Given the description of an element on the screen output the (x, y) to click on. 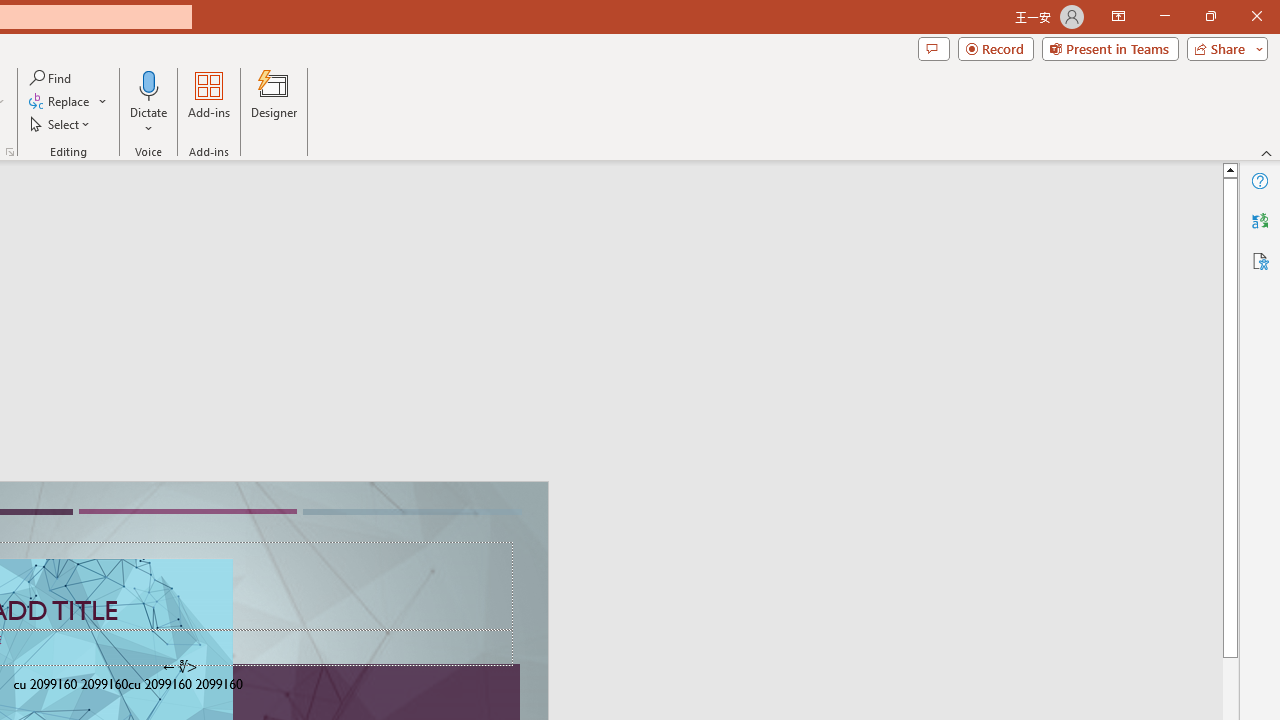
TextBox 7 (179, 667)
Line up (1230, 169)
Select (61, 124)
Replace... (60, 101)
Find... (51, 78)
Replace... (68, 101)
Dictate (149, 84)
